Given the description of an element on the screen output the (x, y) to click on. 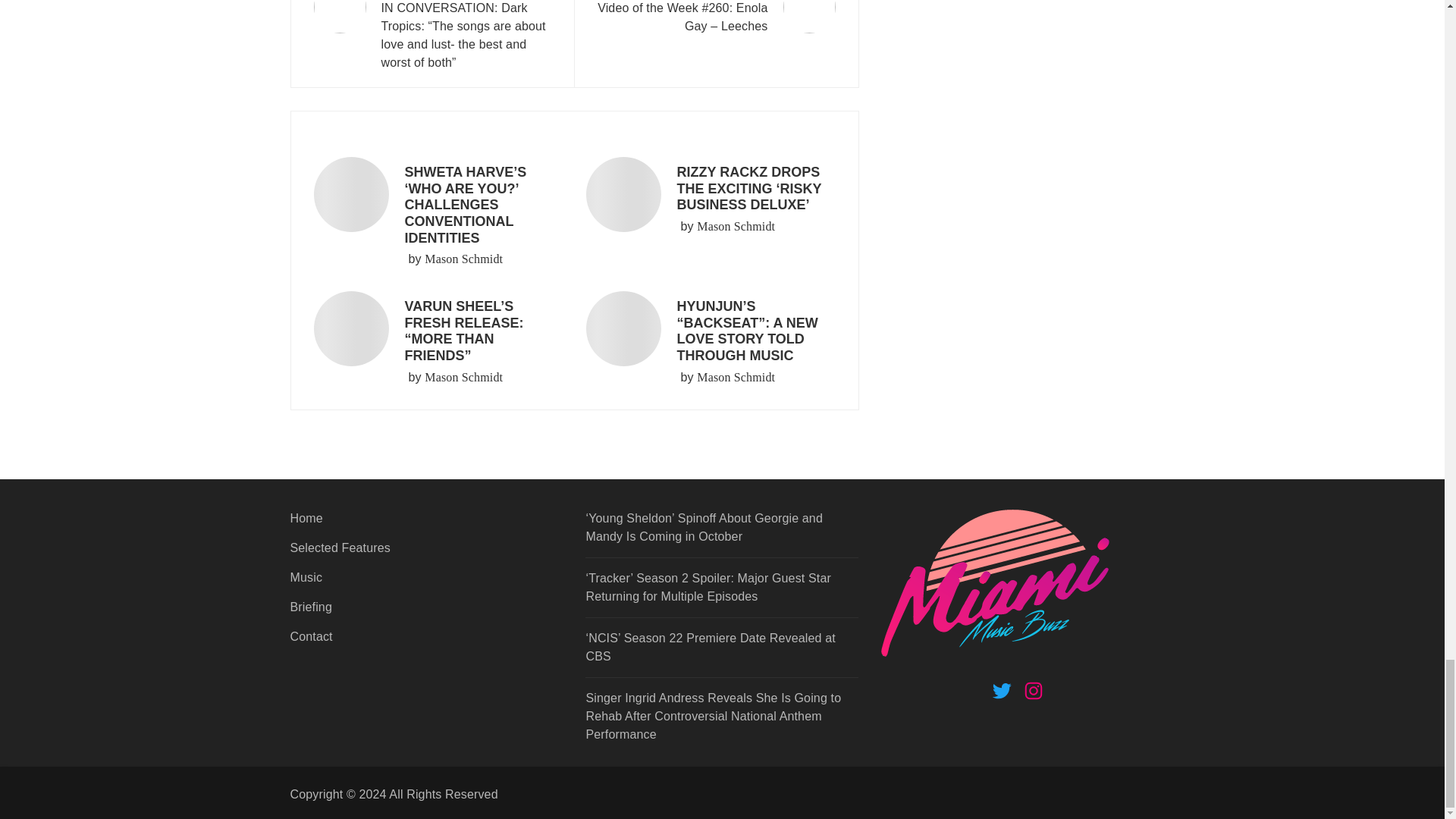
Mason Schmidt (735, 377)
Mason Schmidt (463, 377)
Music (425, 583)
Selected Features (425, 553)
Home (425, 523)
Mason Schmidt (463, 259)
Mason Schmidt (735, 226)
